Given the description of an element on the screen output the (x, y) to click on. 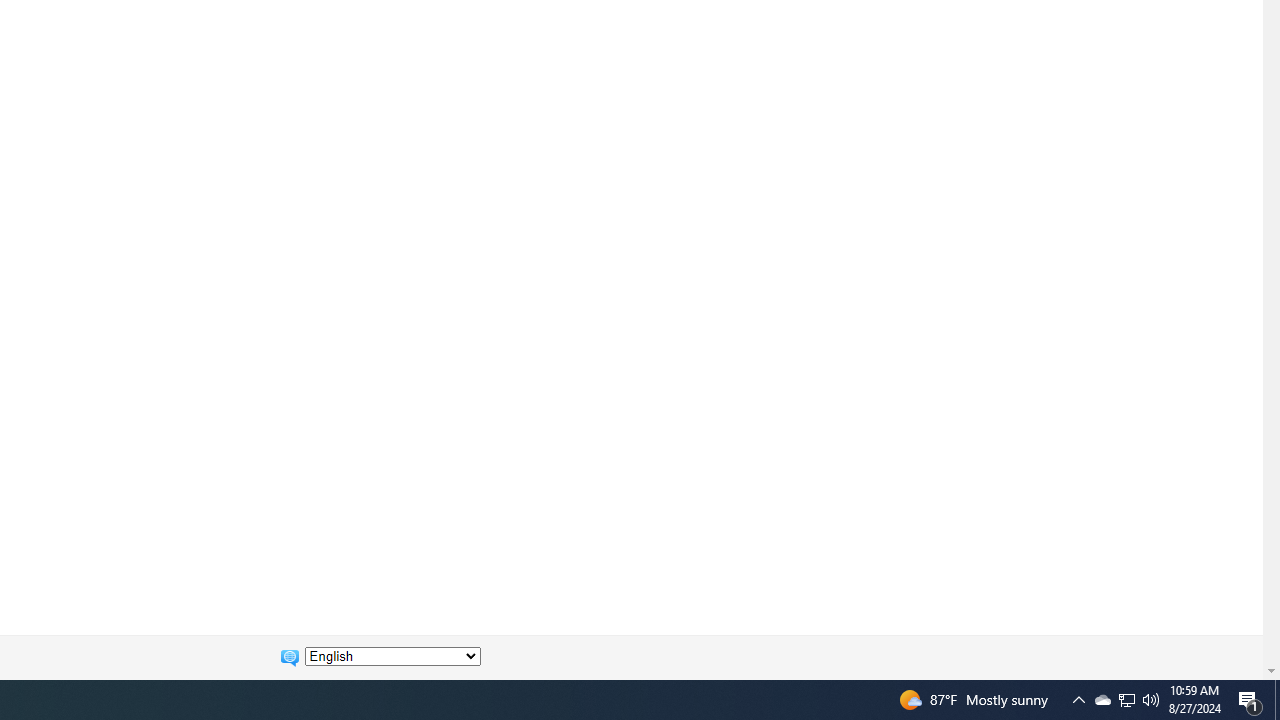
Change language: (392, 656)
